Given the description of an element on the screen output the (x, y) to click on. 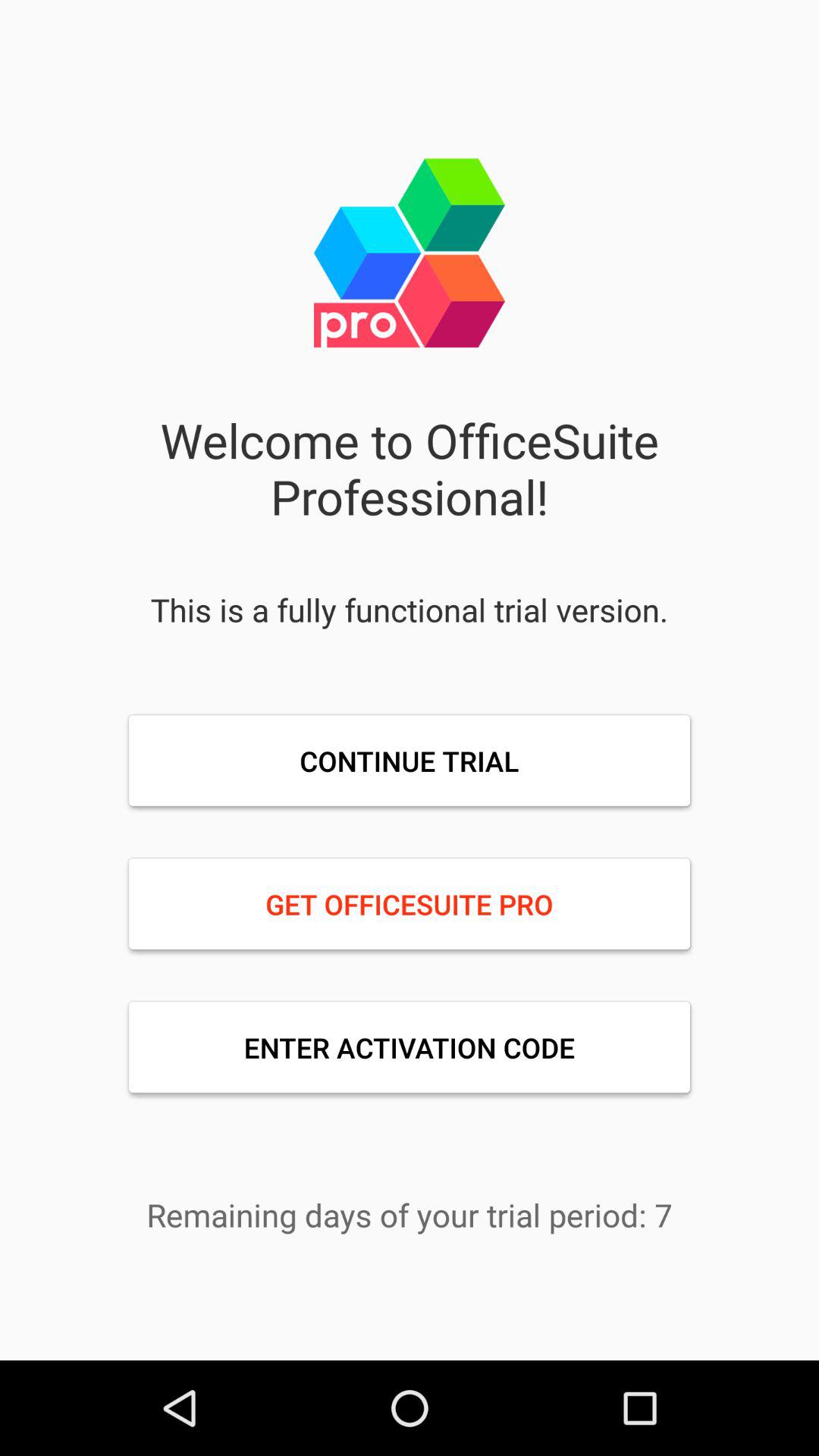
click icon below the continue trial icon (409, 904)
